Given the description of an element on the screen output the (x, y) to click on. 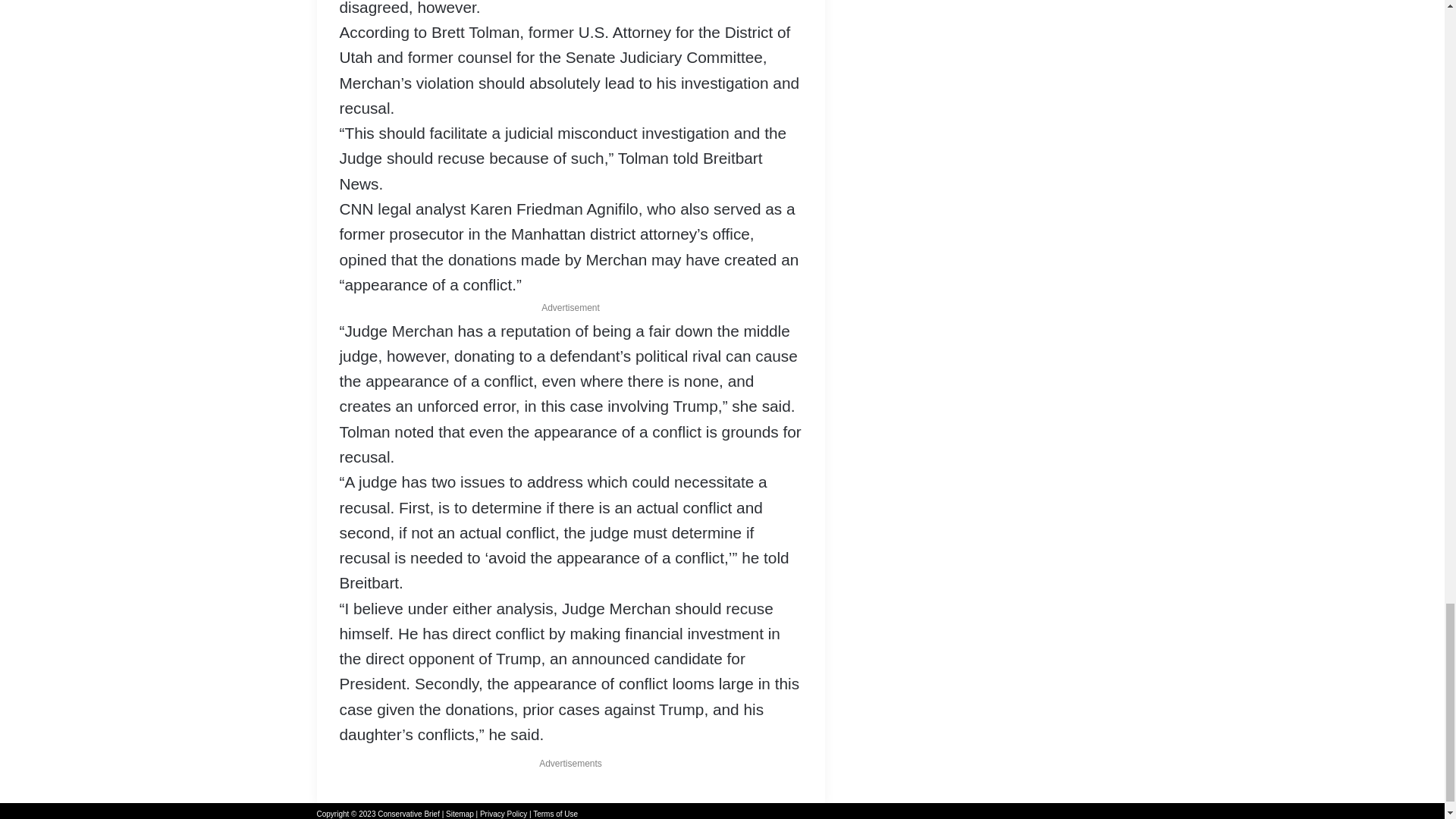
Privacy Policy (503, 813)
Conservative Brief (408, 813)
Sitemap (459, 813)
Terms of Use (555, 813)
